Given the description of an element on the screen output the (x, y) to click on. 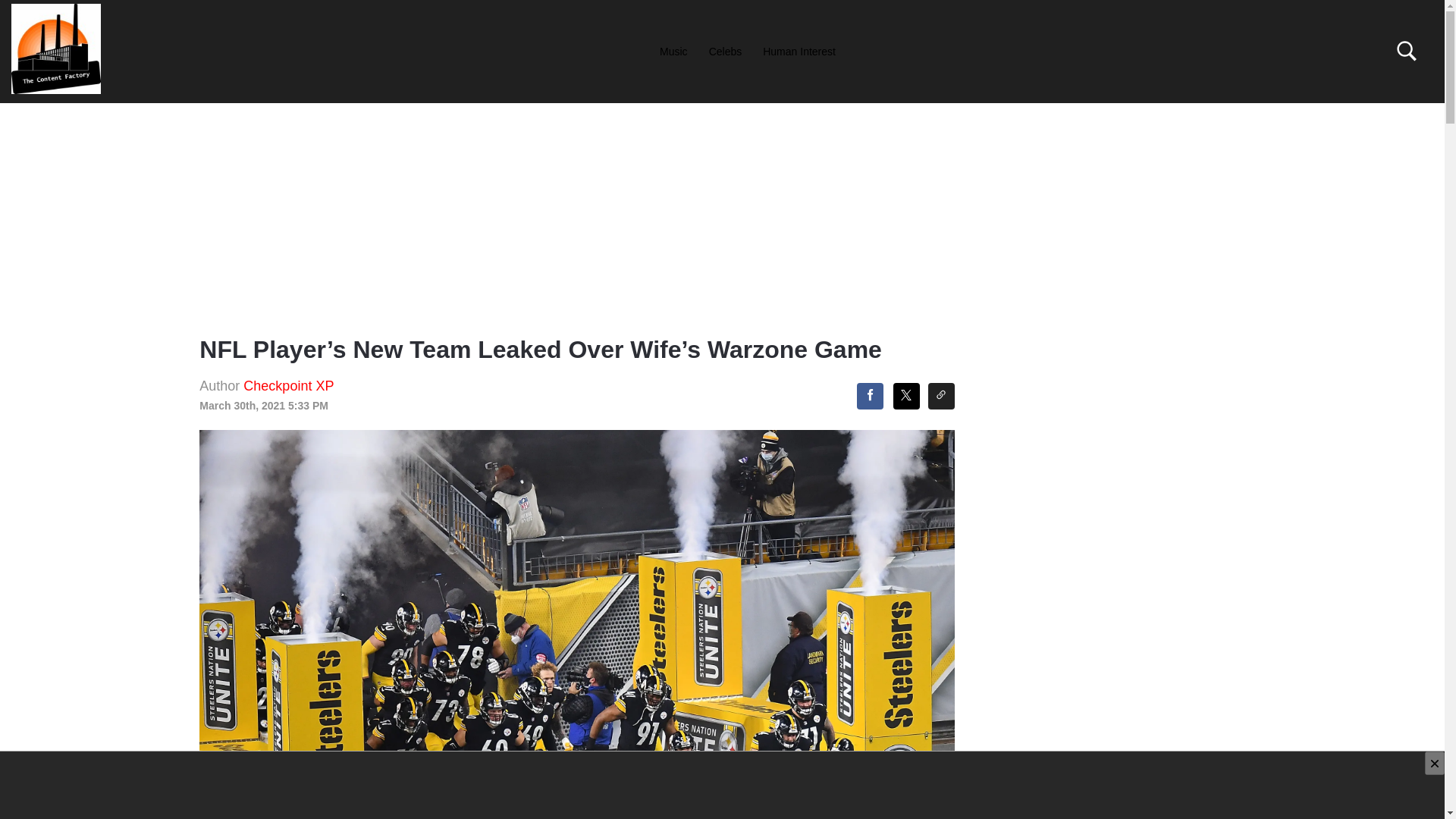
Celebs (725, 51)
Human Interest (798, 51)
Close AdCheckmark indicating ad close (1434, 763)
Checkpoint XP (288, 385)
Checkpoint XP (288, 385)
Music (673, 51)
